Given the description of an element on the screen output the (x, y) to click on. 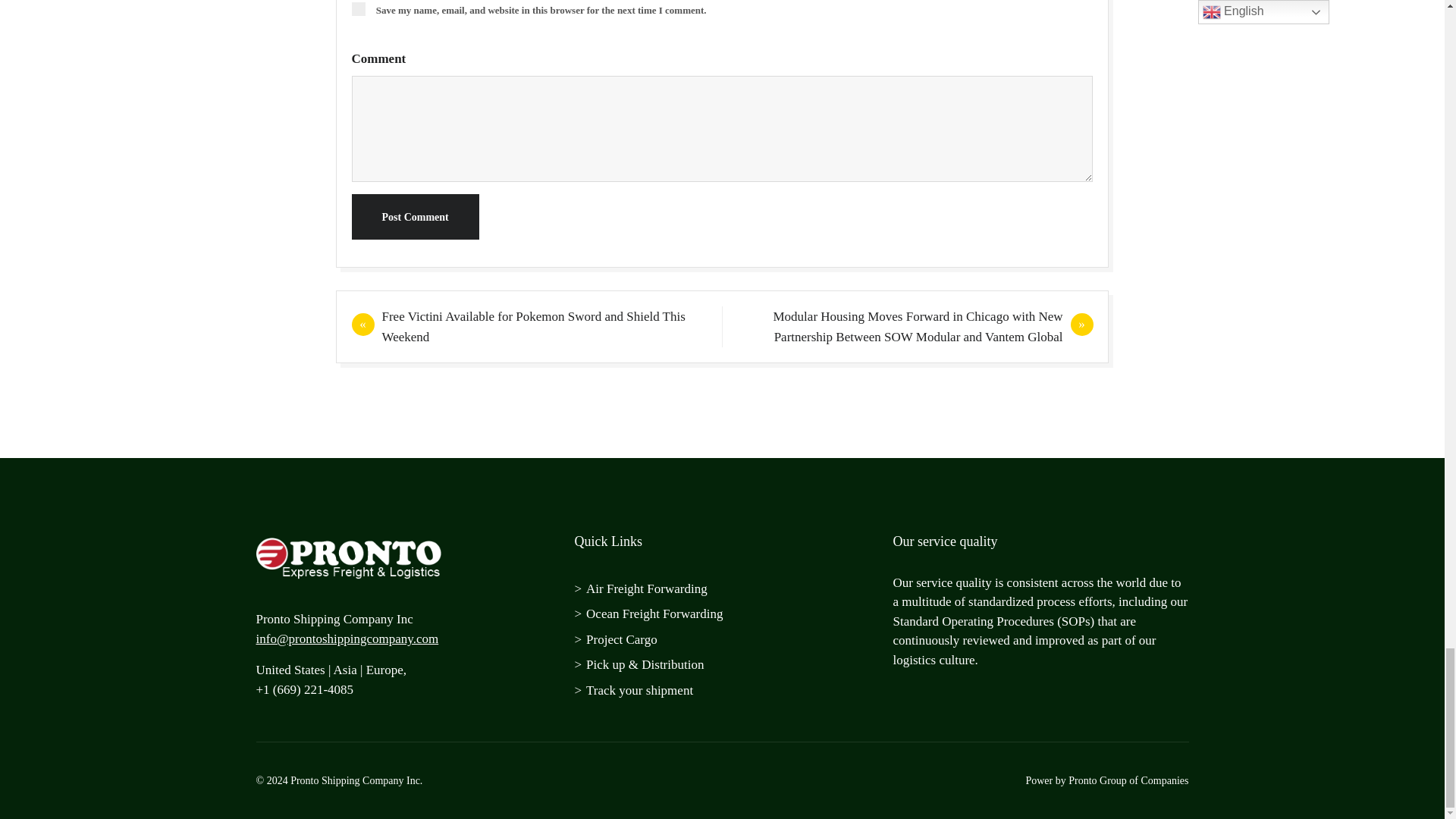
yes (358, 8)
